Given the description of an element on the screen output the (x, y) to click on. 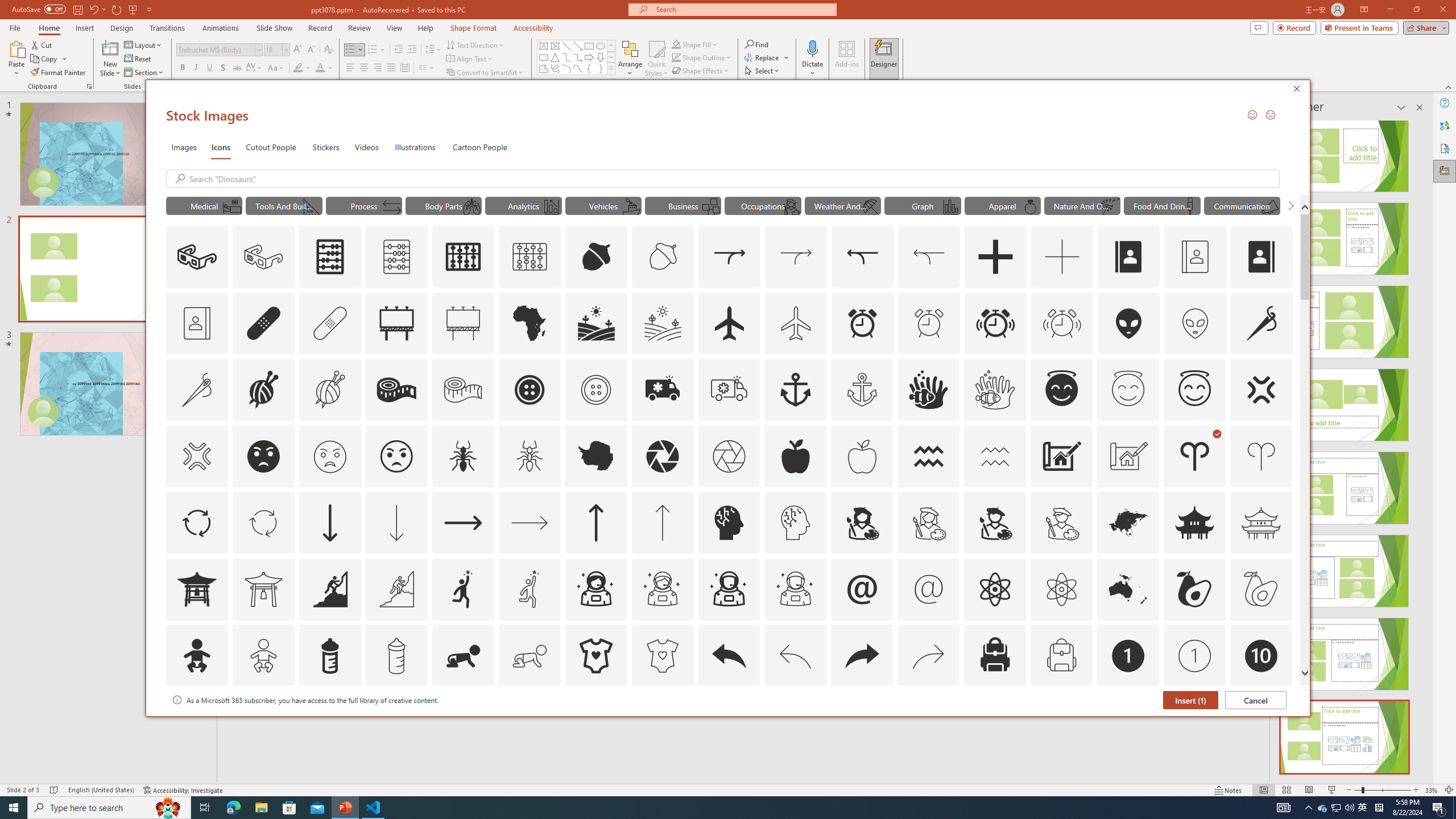
Search "Dinosaurs" (731, 178)
AutomationID: Icons_AlterationsTailoring2_M (462, 389)
AutomationID: Icons_Architecture (1061, 455)
AutomationID: Icons_AddressBook_RTL (1261, 256)
AutomationID: Icons_Abacus (330, 256)
